Given the description of an element on the screen output the (x, y) to click on. 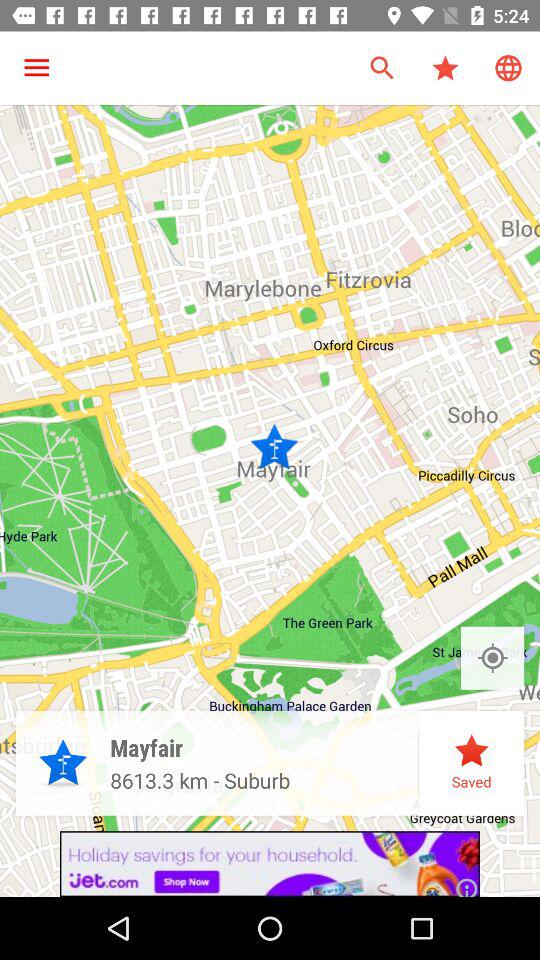
book mark (492, 657)
